Given the description of an element on the screen output the (x, y) to click on. 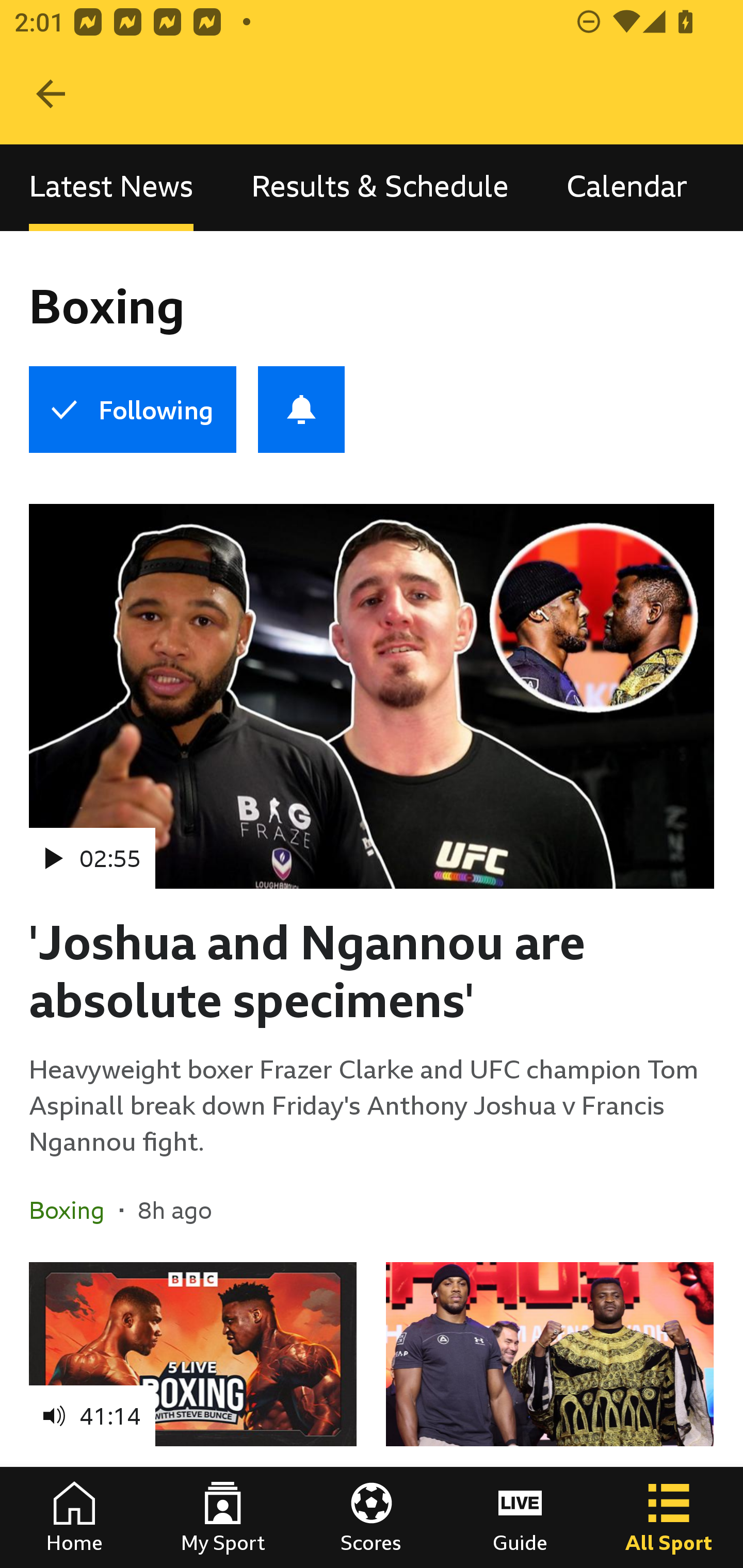
Navigate up (50, 93)
Latest News, selected Latest News (111, 187)
Results & Schedule (379, 187)
Calendar (626, 187)
Following Boxing Following (132, 409)
Push notifications for Boxing (300, 409)
How to follow Joshua v Ngannou on BBC Sport (549, 1415)
Home (74, 1517)
My Sport (222, 1517)
Scores (371, 1517)
Guide (519, 1517)
